Given the description of an element on the screen output the (x, y) to click on. 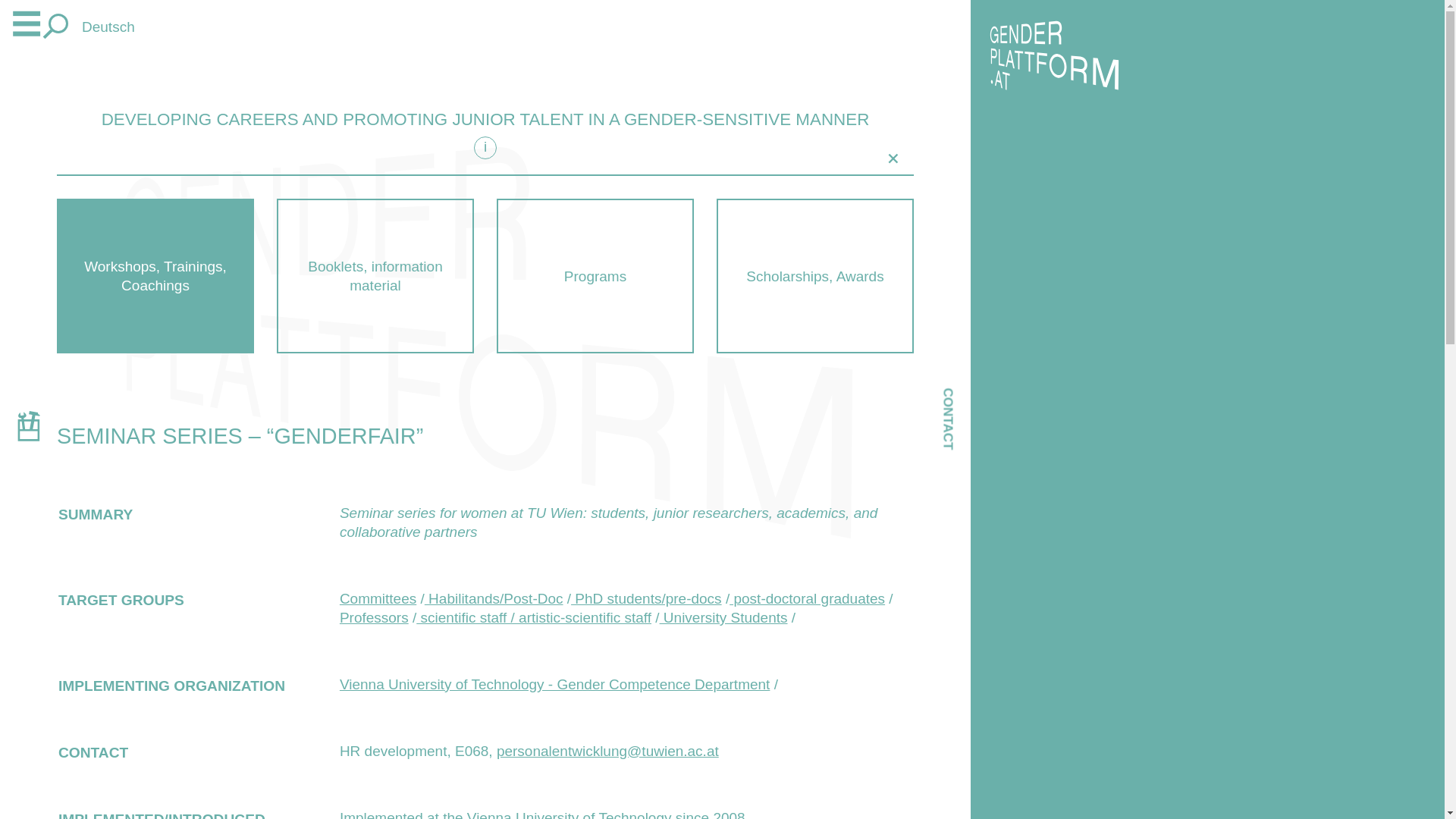
Committees (377, 598)
View all posts in post-doctoral graduates (807, 598)
Booklets, information material (374, 275)
View all posts in Committees (377, 598)
Scholarships, Awards (815, 275)
Workshops, Trainings, Coachings (154, 275)
CONTACT (976, 389)
Programs (595, 275)
View all posts in Professors (374, 617)
View all posts in University Students (723, 617)
Deutsch (108, 26)
contact information (976, 389)
